Given the description of an element on the screen output the (x, y) to click on. 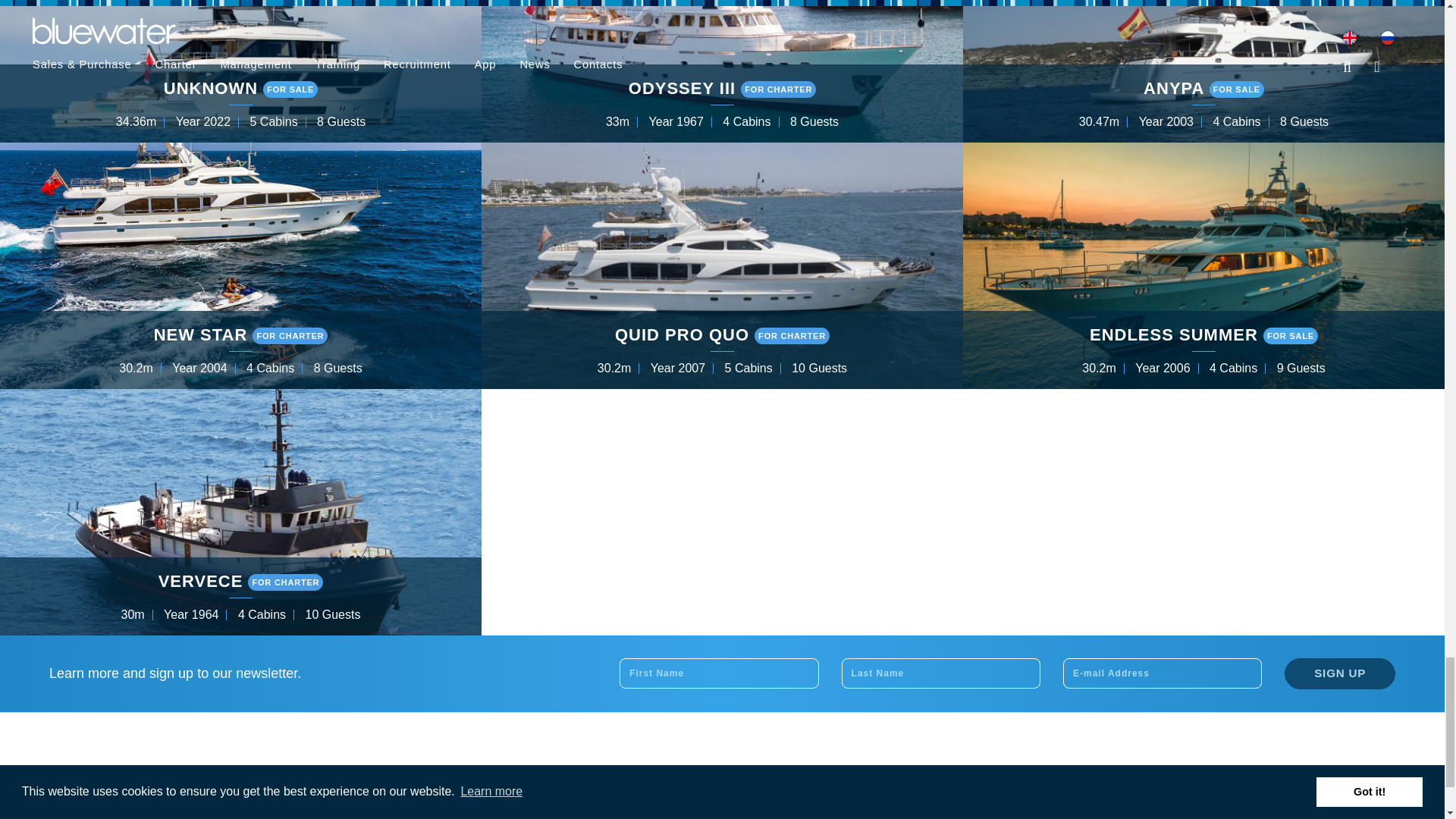
Bluewater on LinkedIn (957, 778)
Luxury yacht sales (379, 801)
Bluewater on Threads (1102, 778)
Bluewater on X (1029, 778)
Bluewater on Instagram (921, 778)
Luxury yacht charter (370, 772)
Bluewater on Youtube (993, 778)
Bluewater on TikTok (1065, 778)
Bluewater is on Facebook (885, 778)
